Given the description of an element on the screen output the (x, y) to click on. 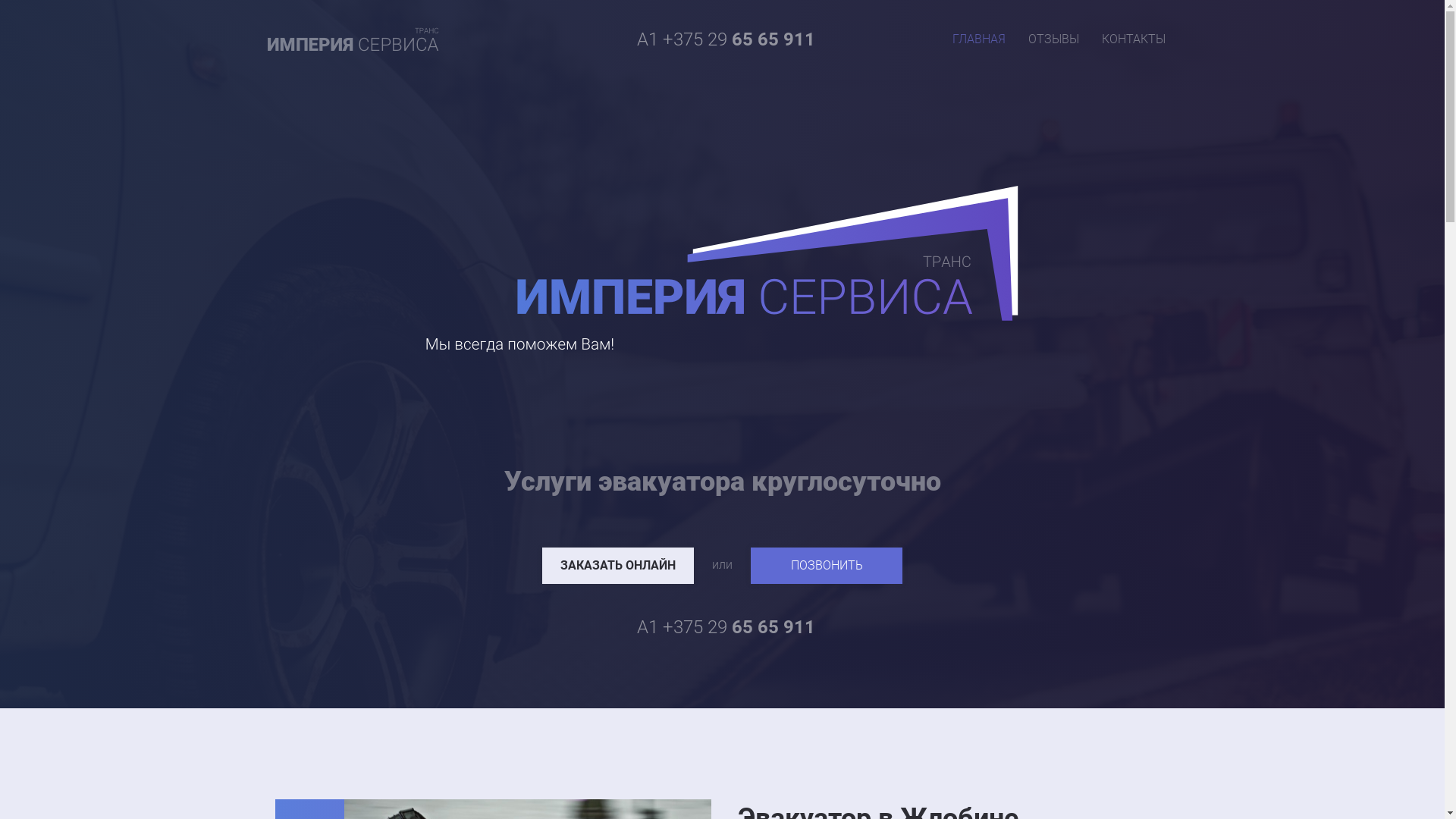
A1 +375 29 65 65 911 Element type: text (726, 627)
A1 +375 29 65 65 911 Element type: text (726, 39)
